Given the description of an element on the screen output the (x, y) to click on. 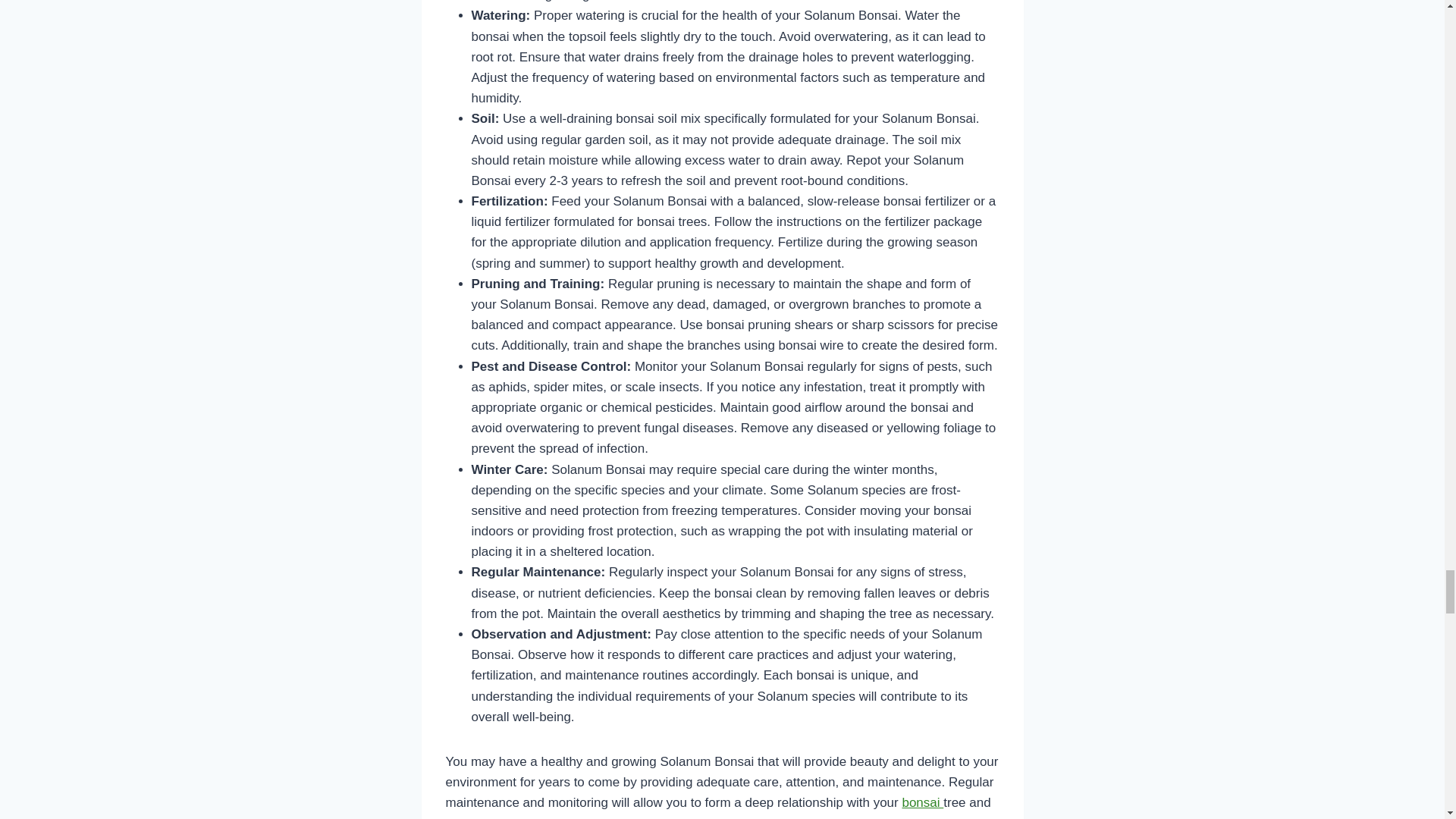
bonsai (922, 802)
